Given the description of an element on the screen output the (x, y) to click on. 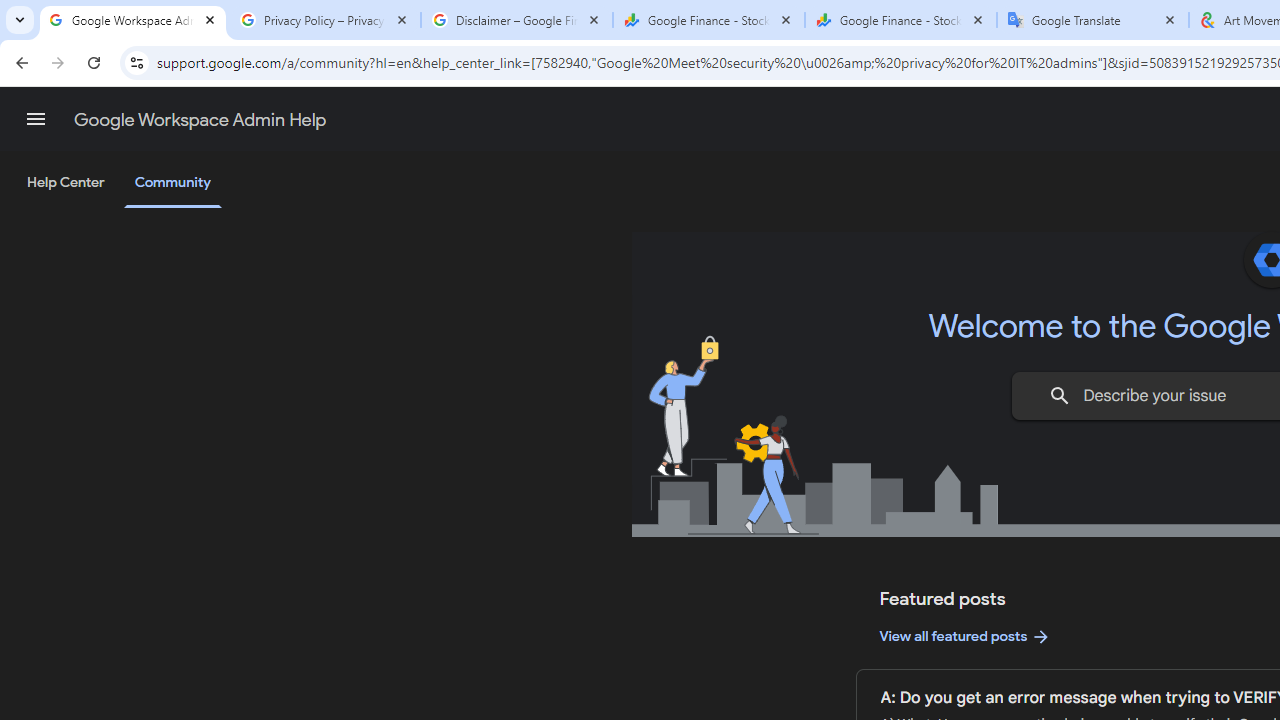
Community (171, 183)
Help Center (65, 183)
Google Translate (1093, 20)
View all featured posts (965, 636)
Main menu (35, 119)
Google Workspace Admin Help (199, 119)
Google Workspace Admin Community (133, 20)
